Given the description of an element on the screen output the (x, y) to click on. 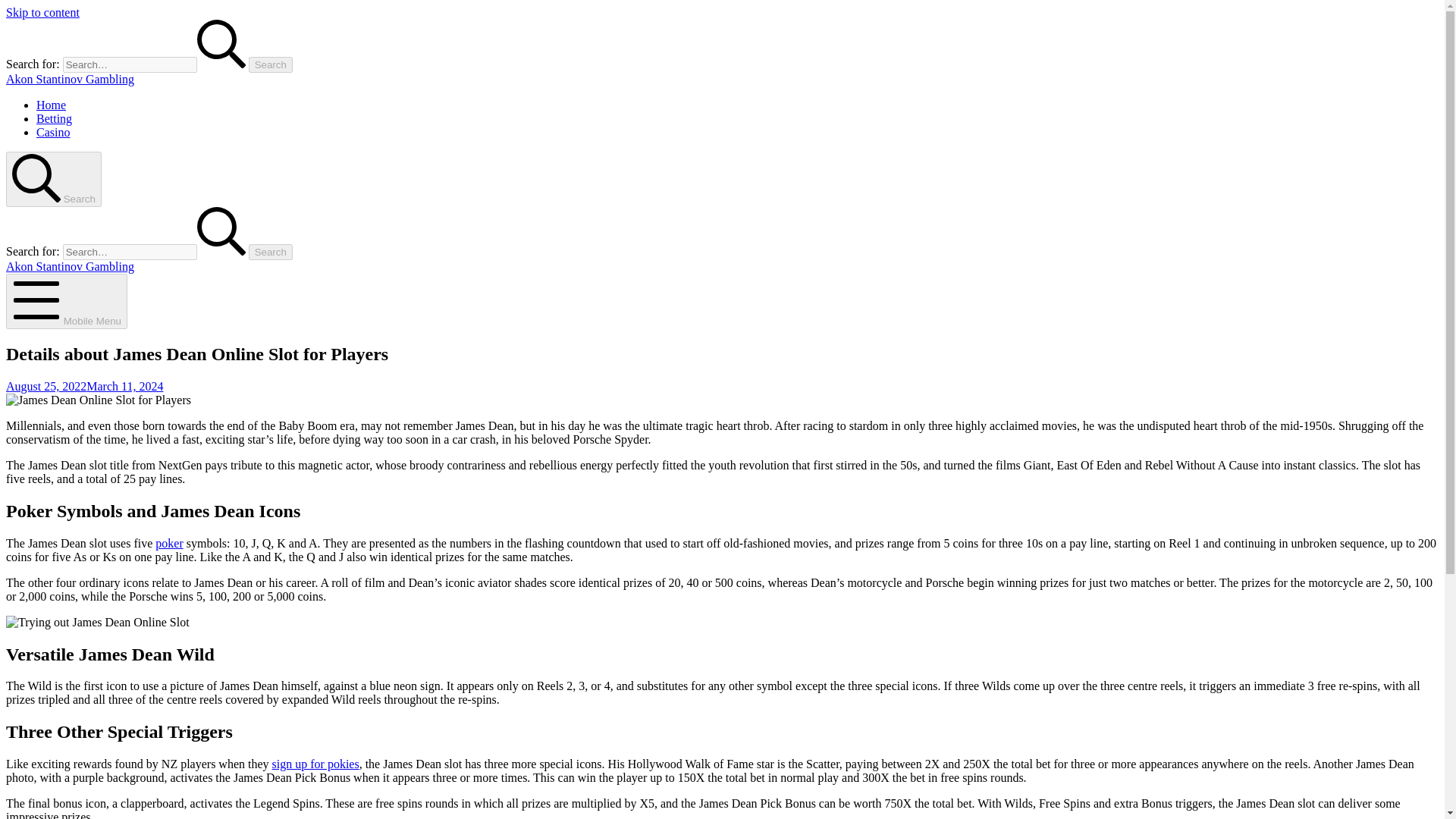
poker (169, 543)
Akon Stantinov Gambling (69, 266)
Search (53, 179)
Search (270, 64)
Casino (52, 132)
Mobile Menu (66, 301)
sign up for pokies (315, 763)
Skip to content (42, 11)
Search (270, 252)
Akon Stantinov Gambling (69, 78)
Search (270, 64)
Betting (53, 118)
Home (50, 104)
August 25, 2022March 11, 2024 (84, 386)
Search (270, 252)
